Given the description of an element on the screen output the (x, y) to click on. 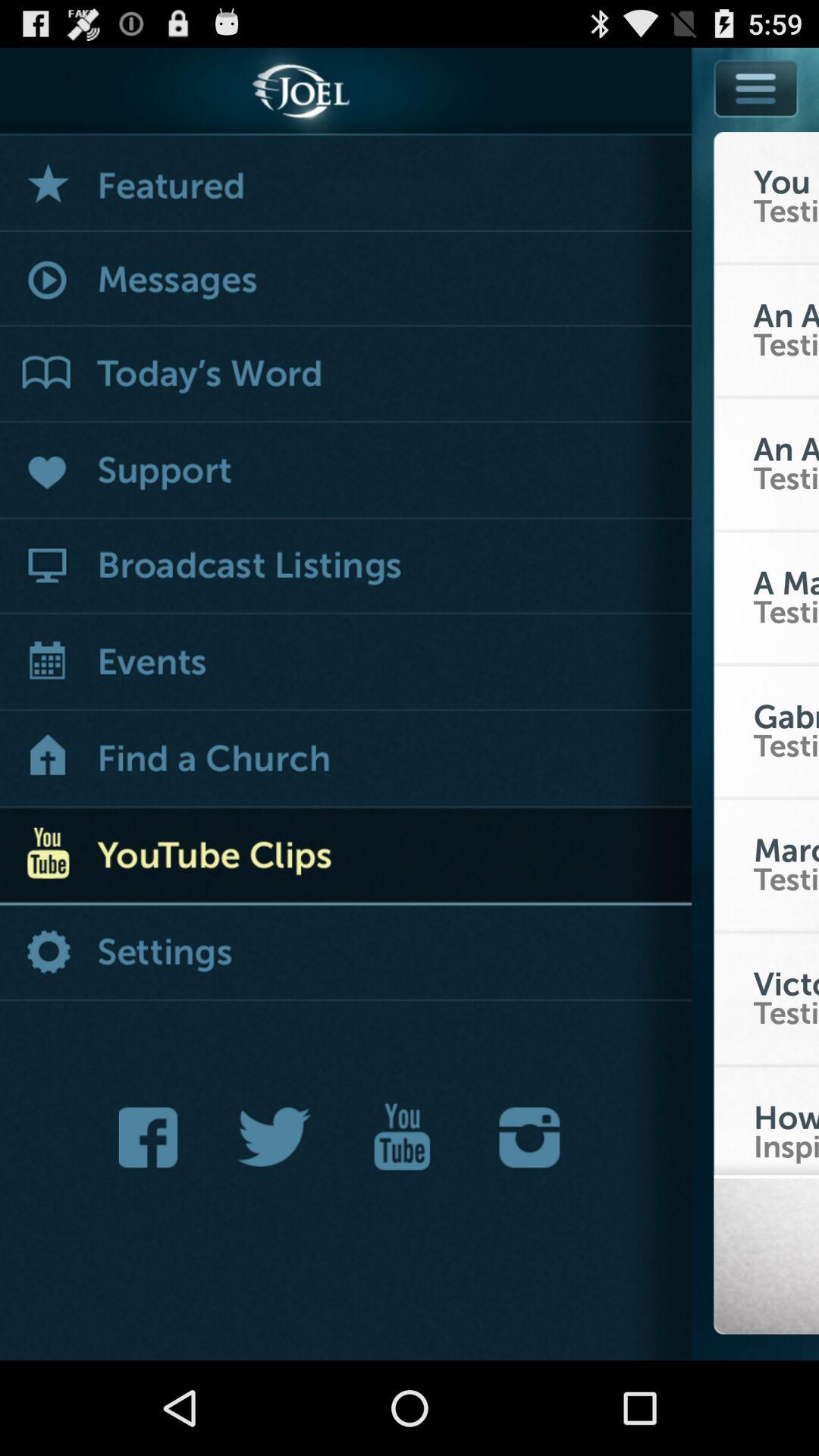
home button (345, 760)
